Given the description of an element on the screen output the (x, y) to click on. 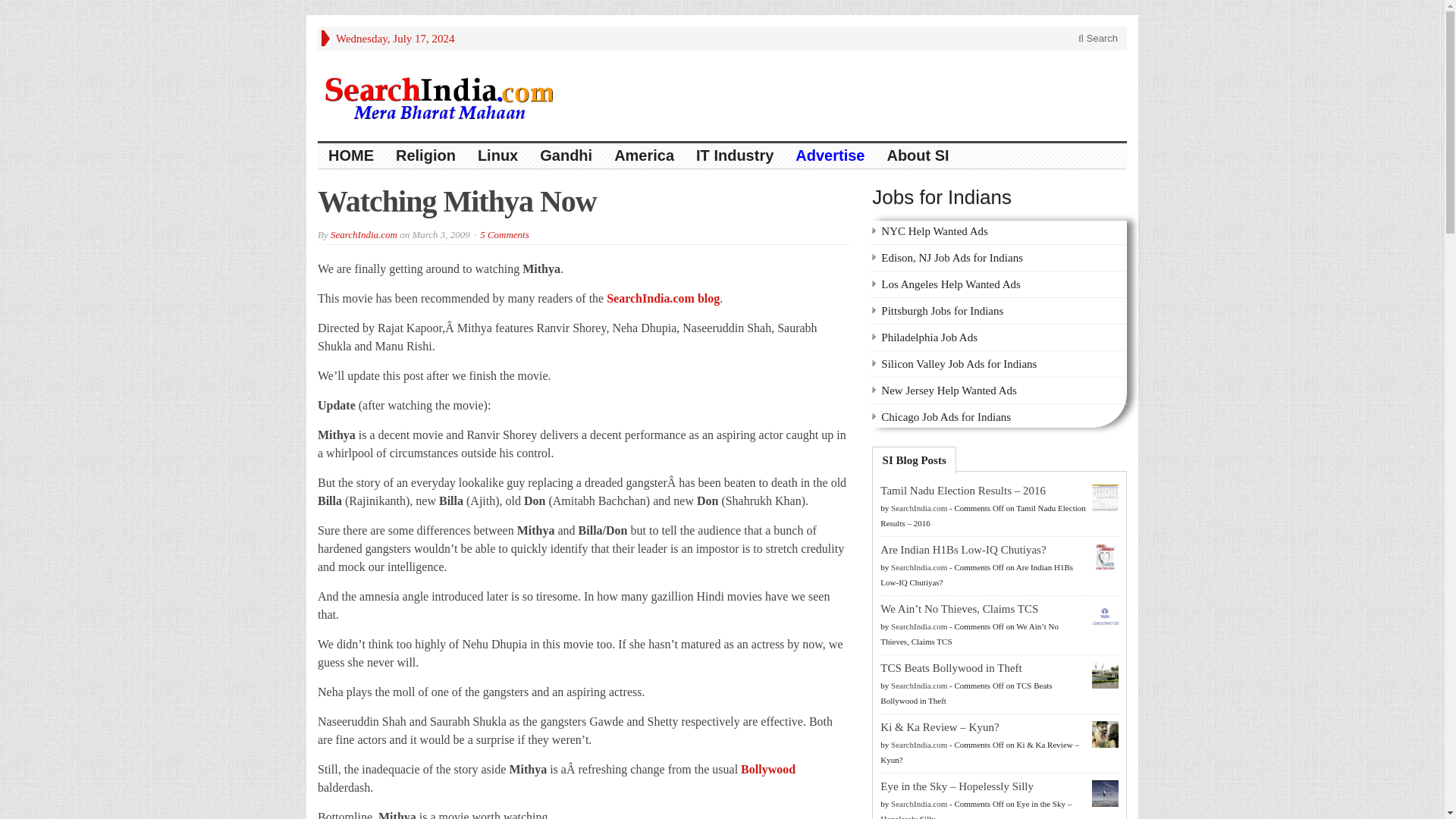
Posts by SearchIndia.com (919, 507)
Gandhi (566, 155)
SearchIndia.com (363, 234)
Pittsburgh Jobs for Indians (941, 310)
Silicon Valley Job Ads for Indians (958, 363)
Posts by SearchIndia.com (919, 566)
Bollywood (767, 768)
Posts by SearchIndia.com (919, 744)
Edison, NJ Job Ads for Indians (951, 257)
Search (1097, 37)
Permalink to TCS Beats Bollywood in Theft (951, 667)
Religion (426, 155)
HOME (351, 155)
IT Industry (734, 155)
Posts by SearchIndia.com (919, 625)
